Given the description of an element on the screen output the (x, y) to click on. 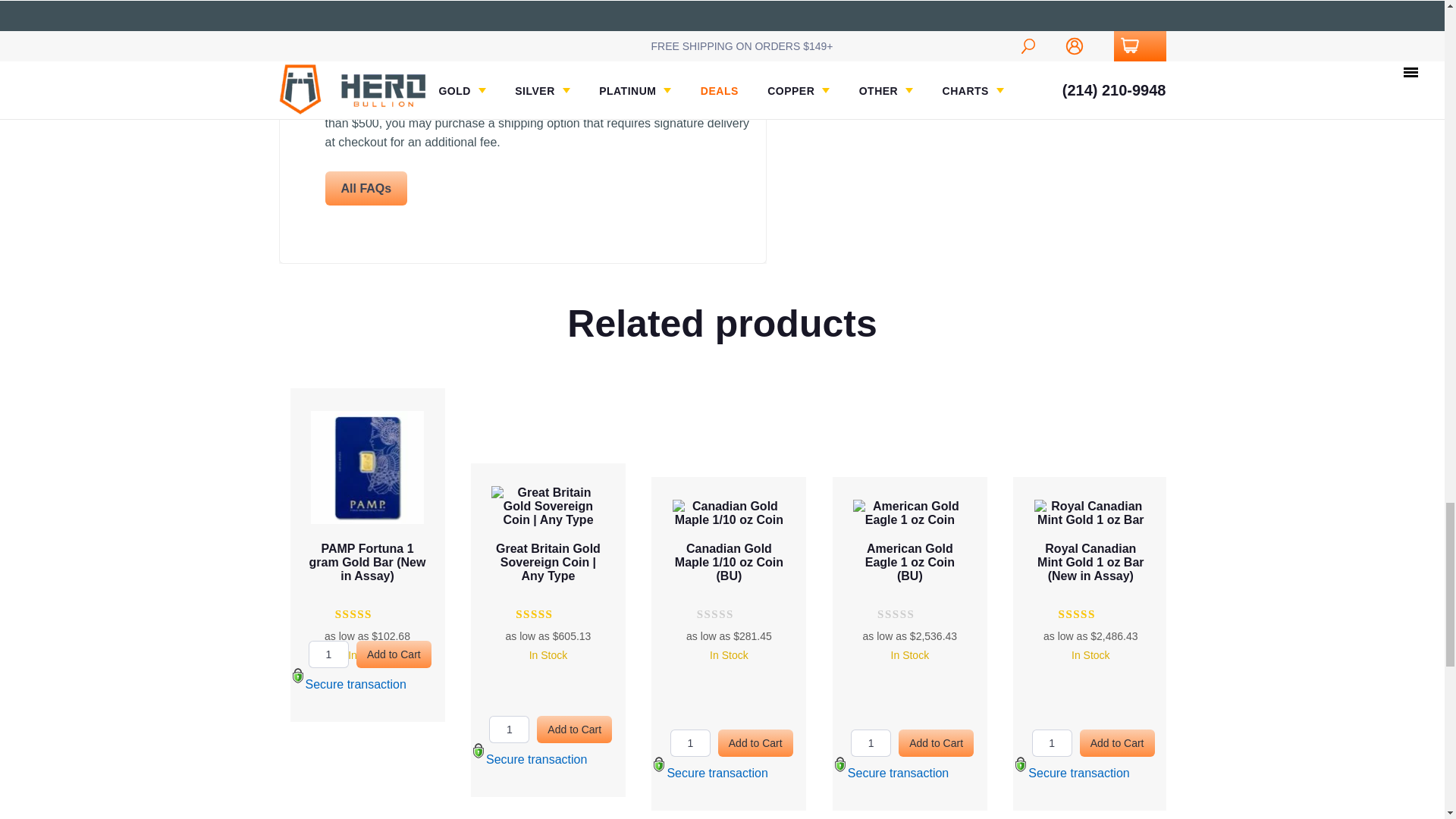
1 (1051, 281)
1 (328, 308)
1 (689, 295)
1 (870, 295)
1 (509, 295)
